Given the description of an element on the screen output the (x, y) to click on. 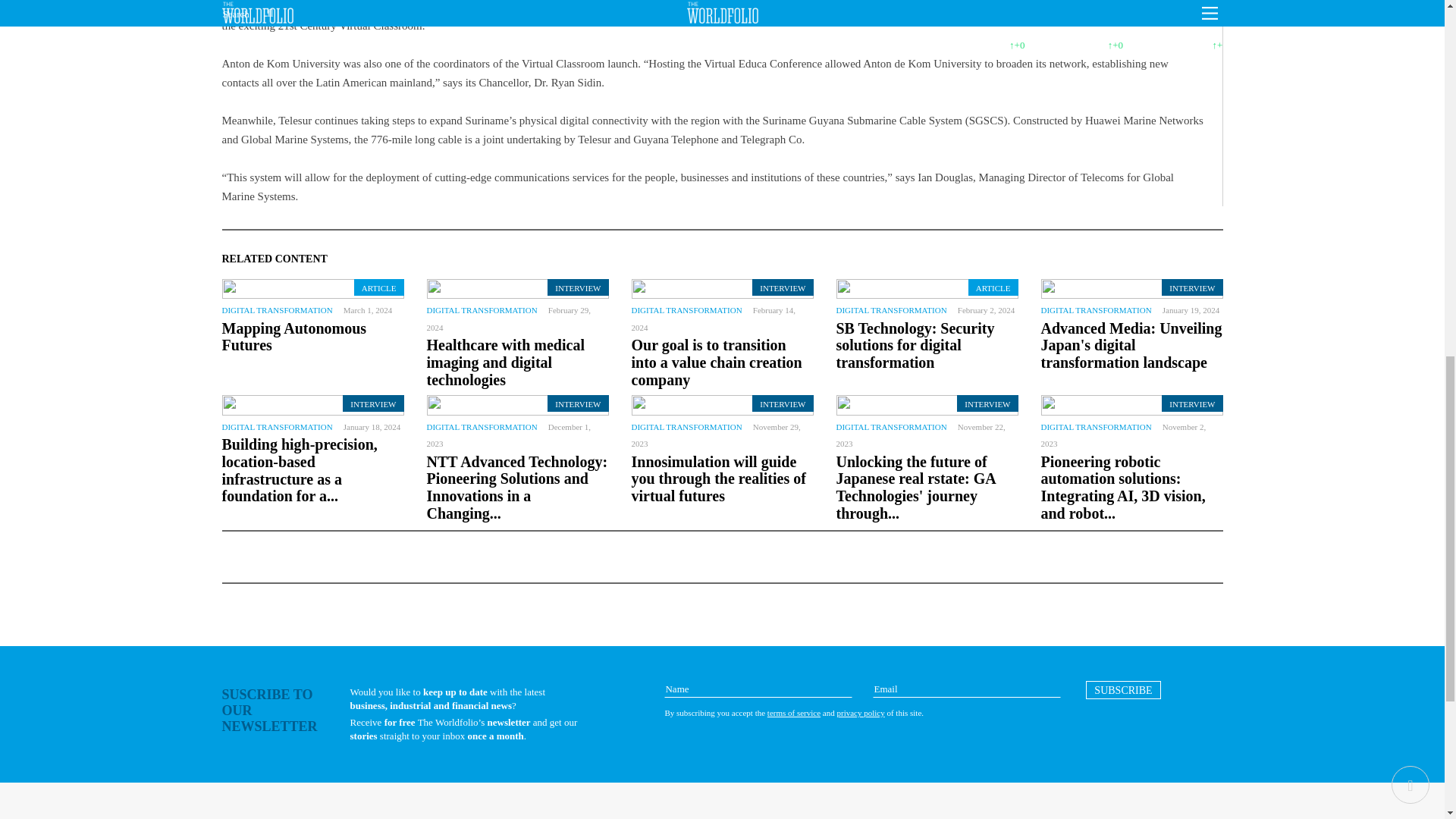
SUBSCRIBE (1123, 689)
